Given the description of an element on the screen output the (x, y) to click on. 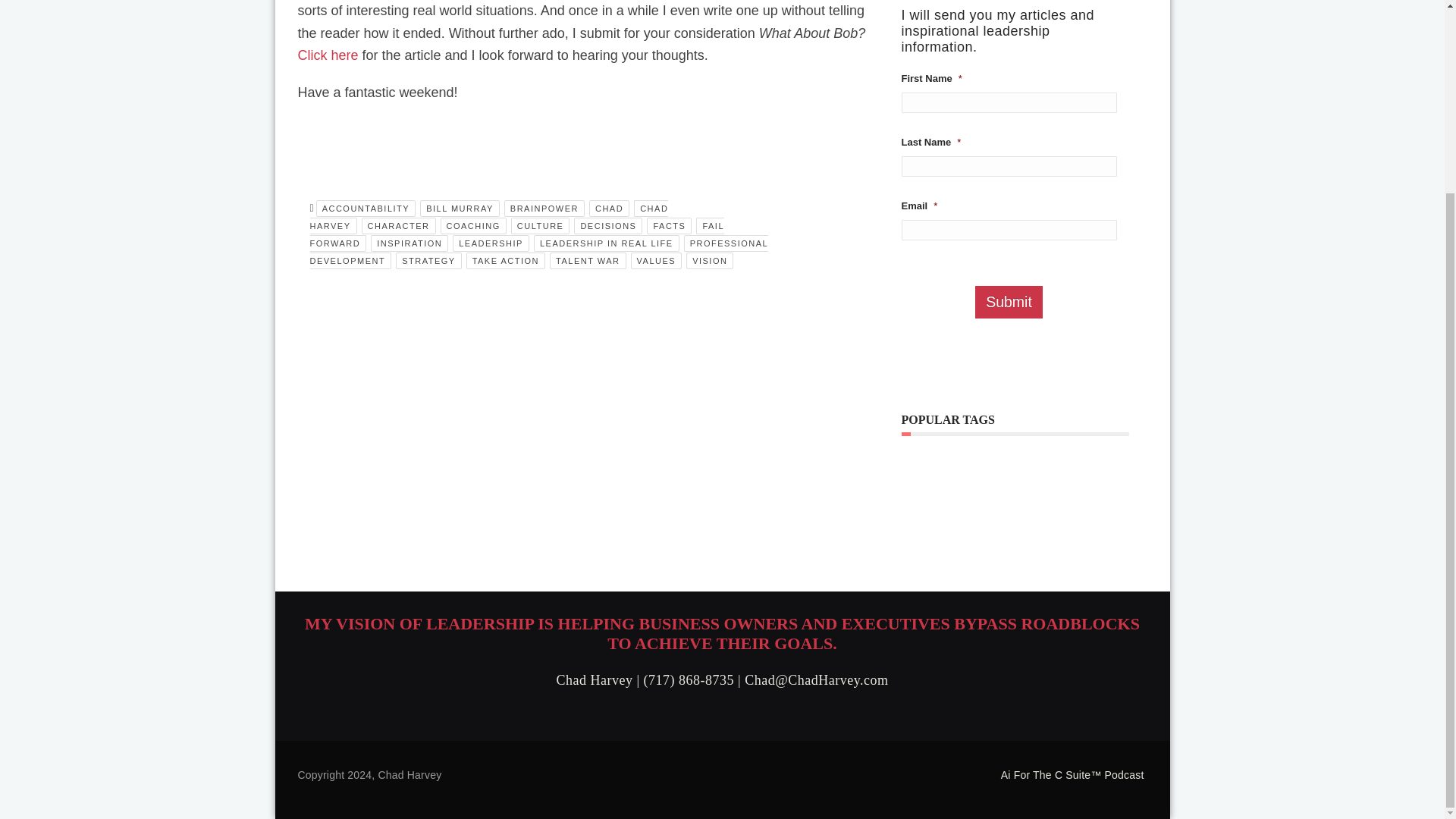
STRATEGY (428, 260)
BILL MURRAY (459, 208)
ACCOUNTABILITY (365, 208)
CULTURE (540, 225)
PROFESSIONAL DEVELOPMENT (538, 252)
TALENT WAR (588, 260)
CHAD HARVEY (488, 216)
LEADERSHIP IN REAL LIFE (606, 243)
TAKE ACTION (504, 260)
FACTS (668, 225)
